Given the description of an element on the screen output the (x, y) to click on. 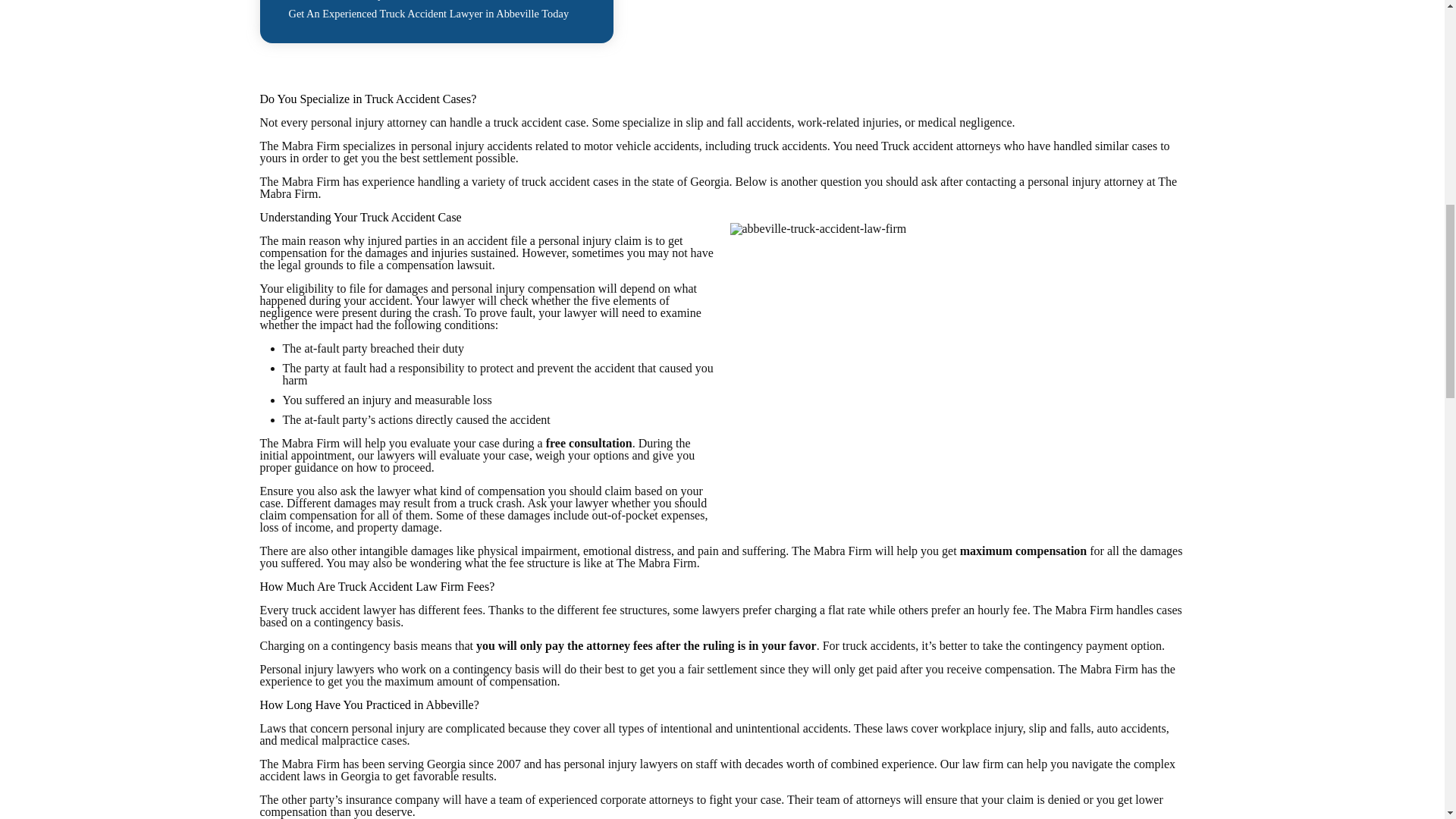
Get An Experienced Truck Accident Lawyer in Abbeville Today (428, 13)
